Given the description of an element on the screen output the (x, y) to click on. 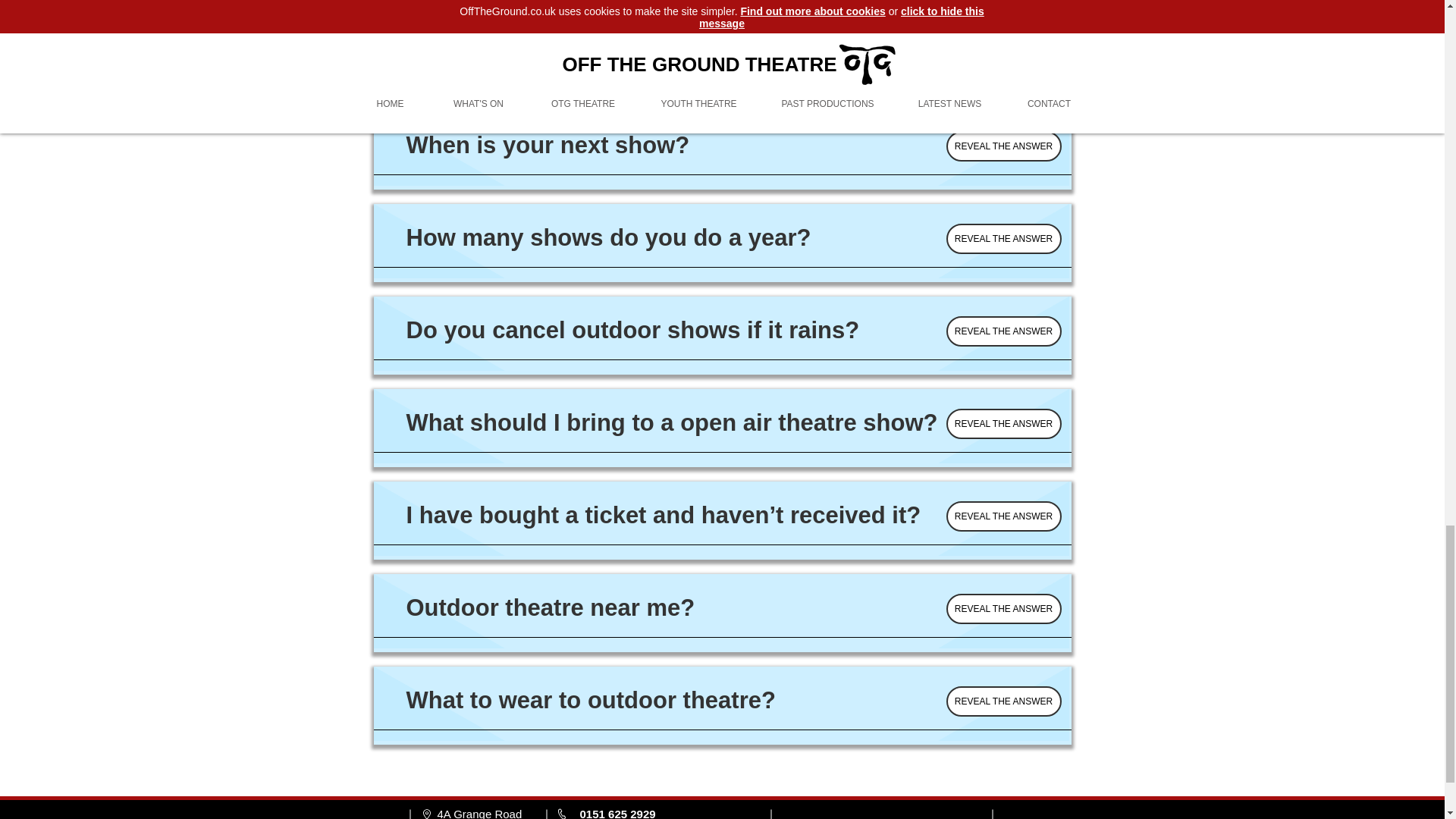
REVEAL THE ANSWER (1003, 608)
REVEAL THE ANSWER (1003, 423)
REVEAL THE ANSWER (1003, 331)
REVEAL THE ANSWER (1003, 146)
REVEAL THE ANSWER (1003, 238)
REVEAL THE ANSWER (1003, 701)
REVEAL THE ANSWER (1003, 516)
